Given the description of an element on the screen output the (x, y) to click on. 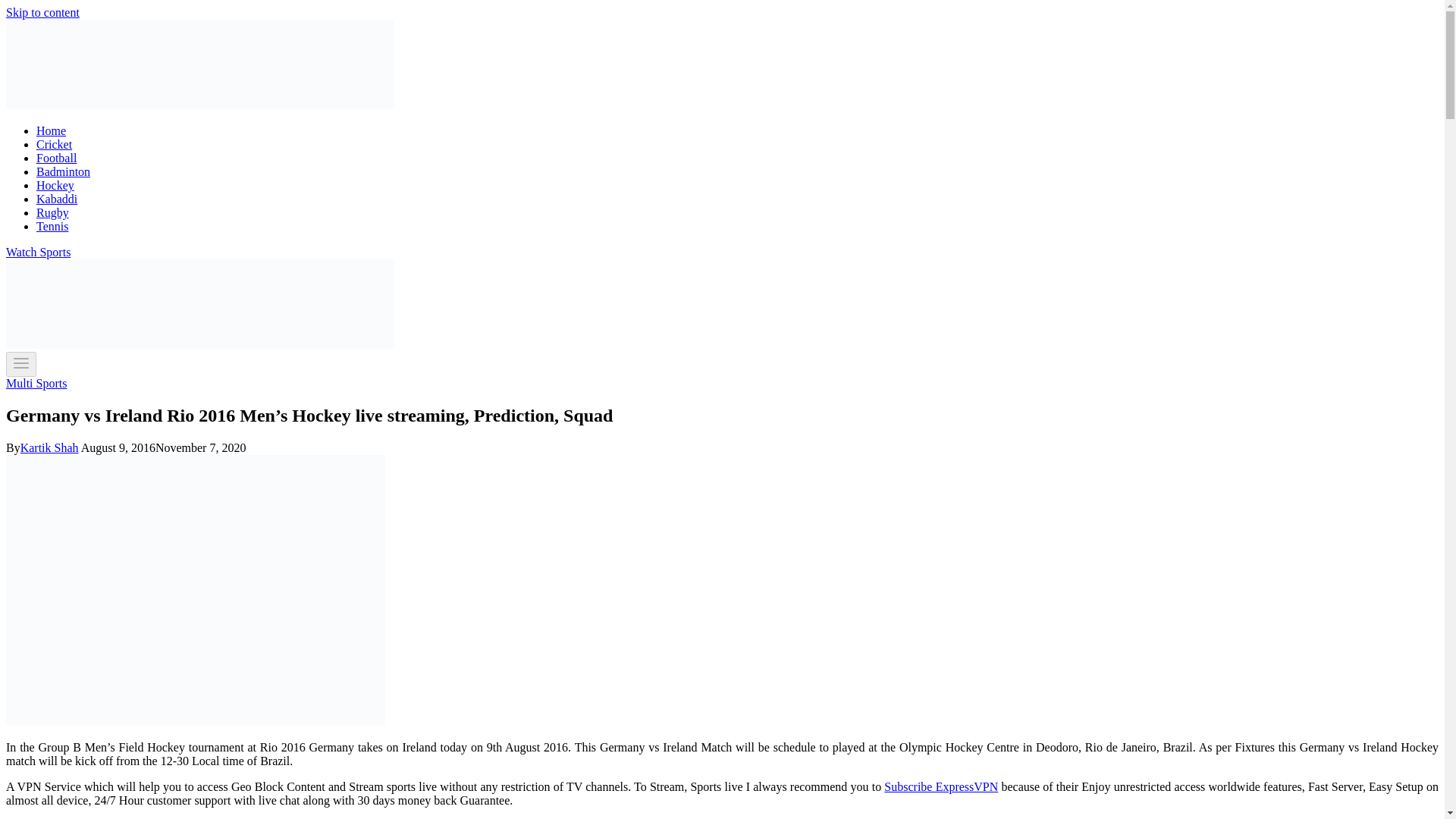
Tennis (52, 226)
ExpressVPN Signup Page (940, 786)
Germany hockey team takes on ireland today on 9 august (195, 590)
Watch Sports (37, 251)
Toggle Menu (20, 362)
Badminton (63, 171)
Skip to content (42, 11)
Cricket (53, 144)
Subscribe ExpressVPN (940, 786)
Skip to content (42, 11)
